Given the description of an element on the screen output the (x, y) to click on. 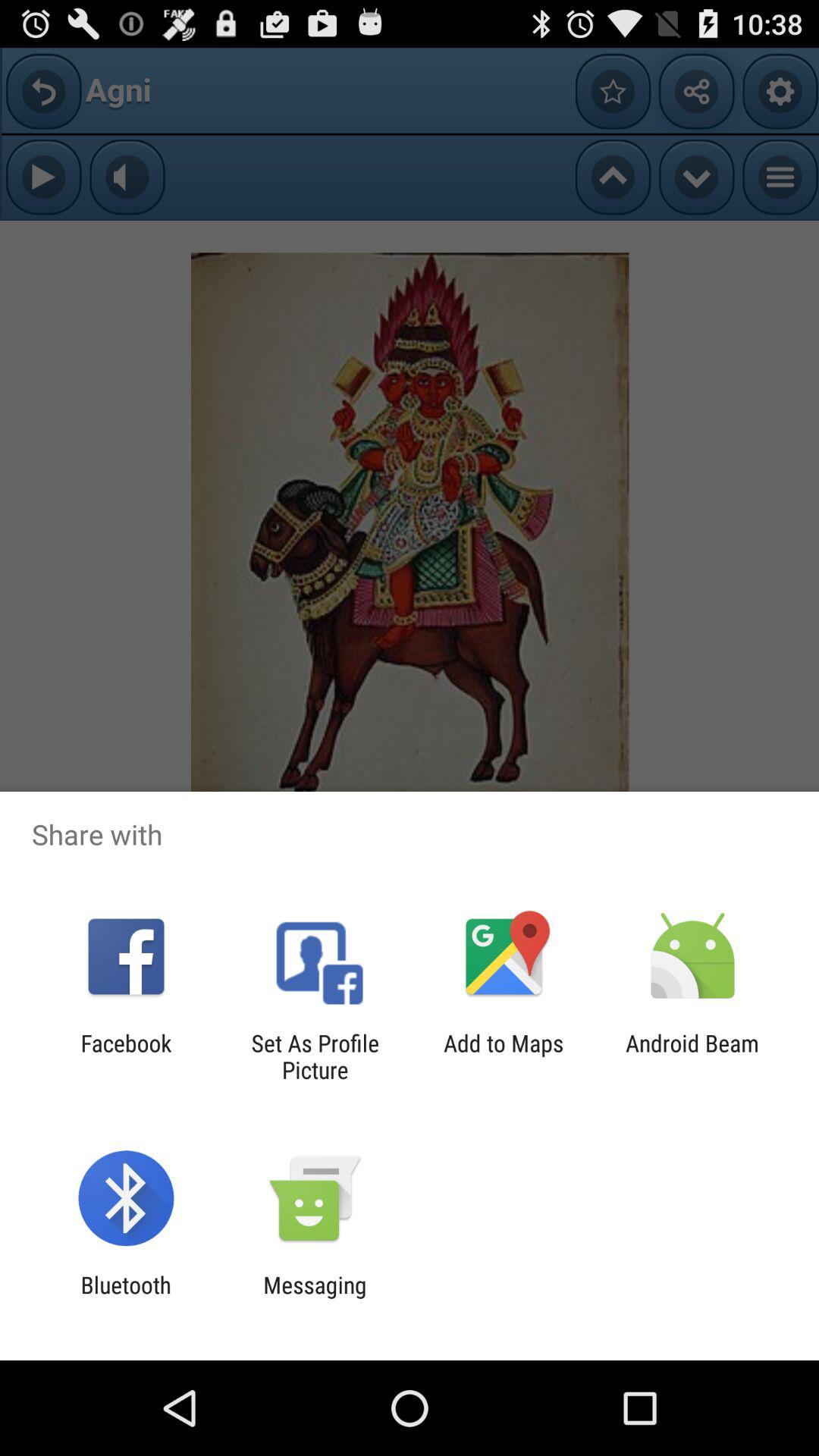
choose item next to the messaging item (125, 1298)
